Given the description of an element on the screen output the (x, y) to click on. 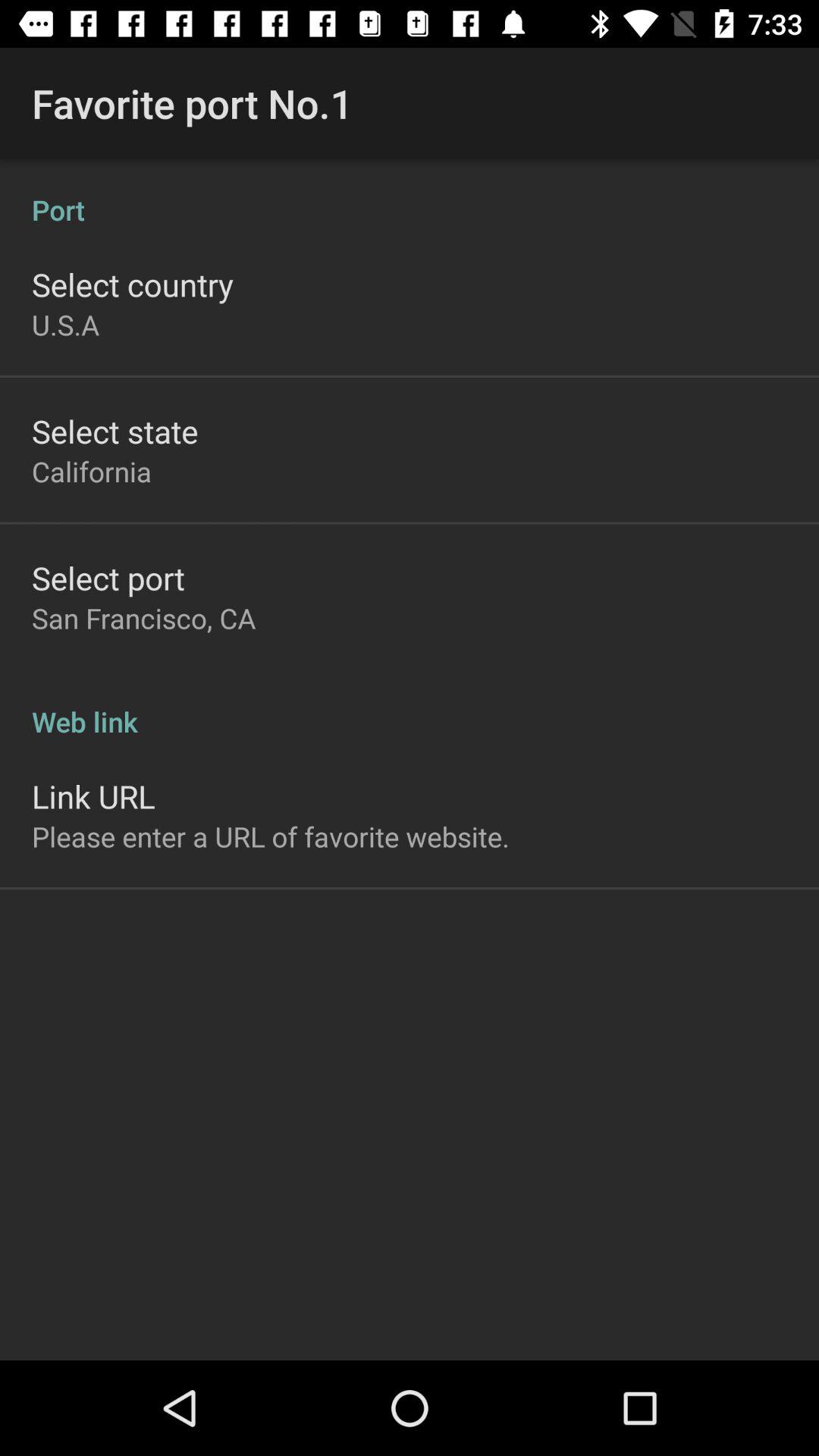
click icon below the select state icon (91, 471)
